Given the description of an element on the screen output the (x, y) to click on. 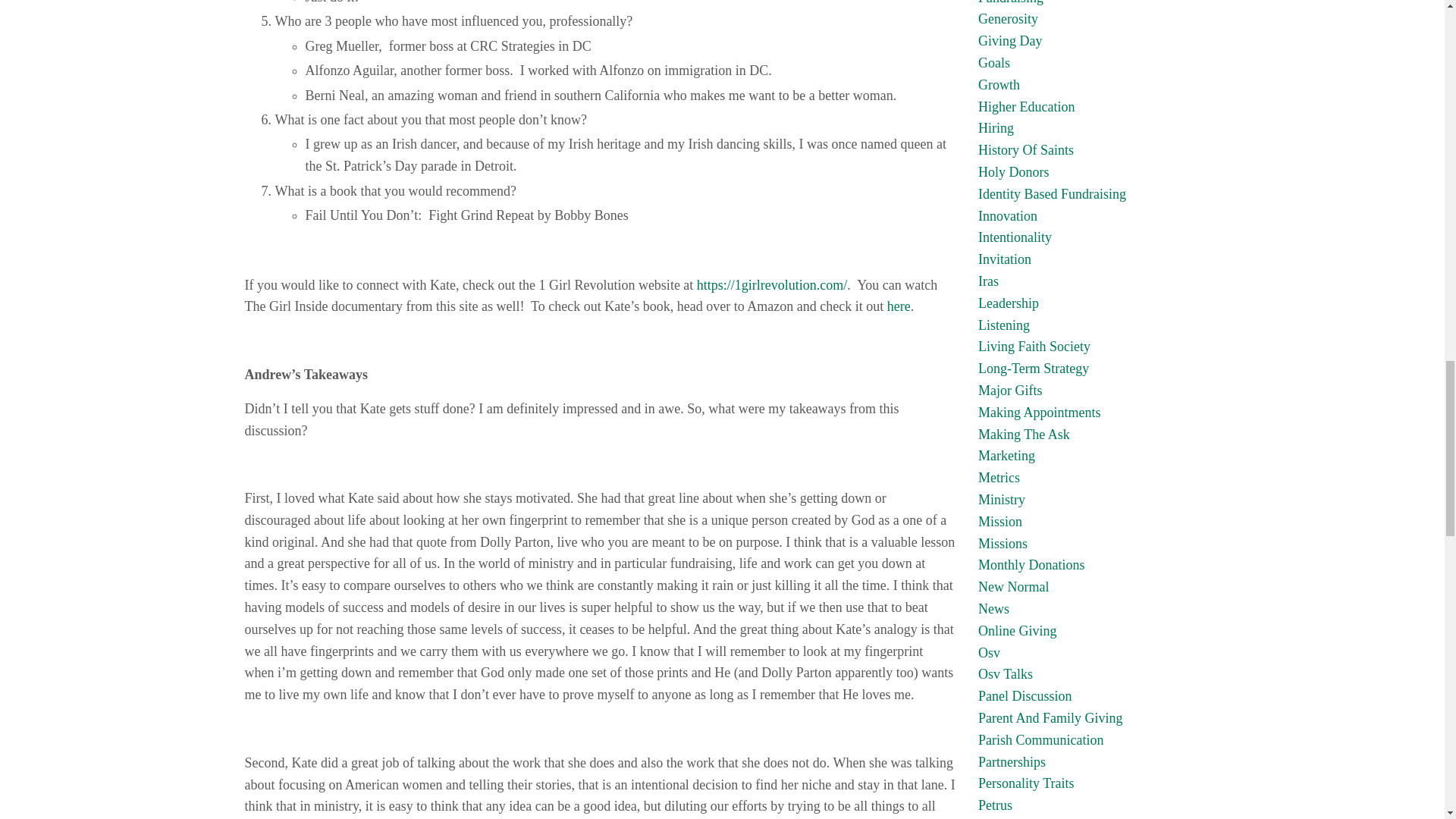
here (898, 305)
